Given the description of an element on the screen output the (x, y) to click on. 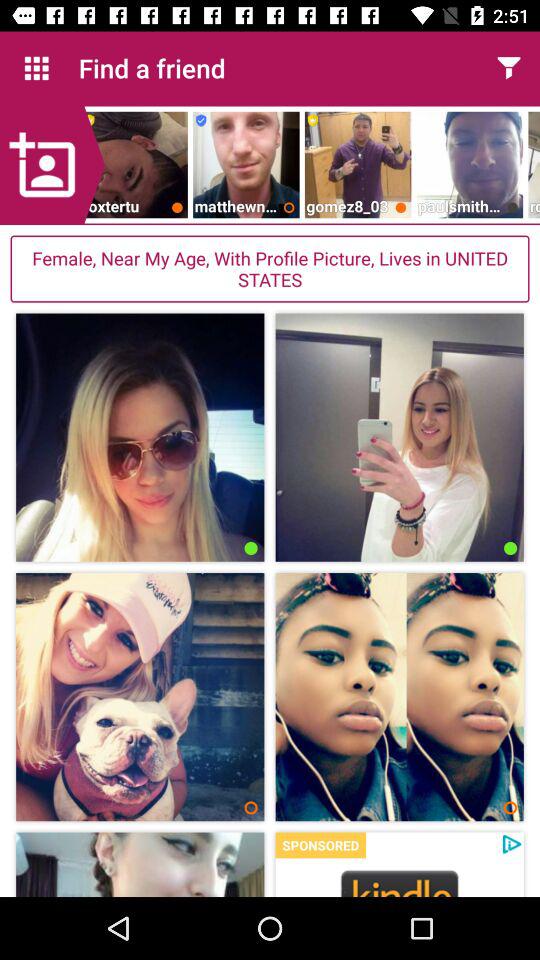
turn off app next to find a friend (508, 67)
